Given the description of an element on the screen output the (x, y) to click on. 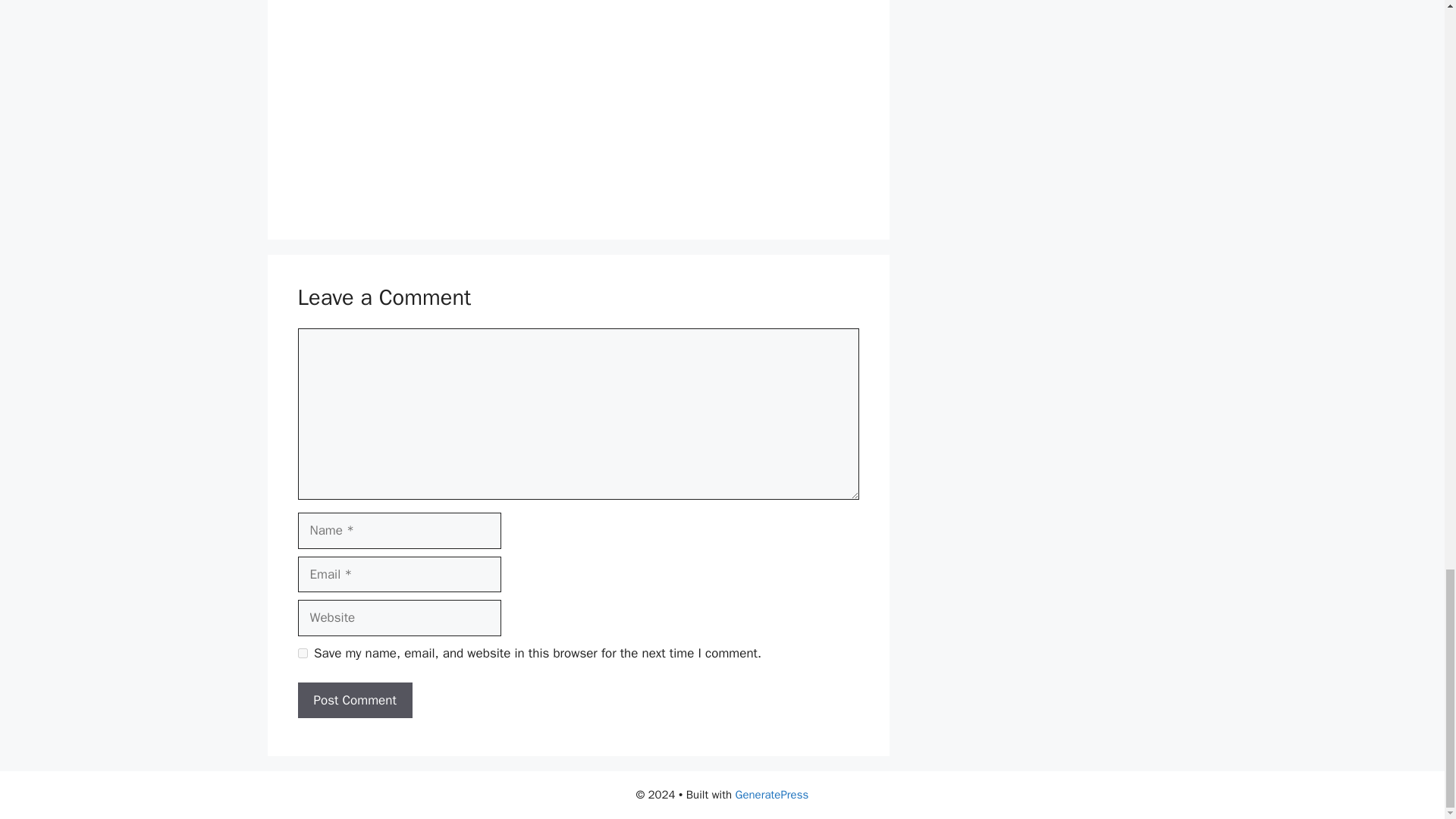
Post Comment (354, 700)
Post Comment (354, 700)
yes (302, 653)
GeneratePress (772, 794)
